Given the description of an element on the screen output the (x, y) to click on. 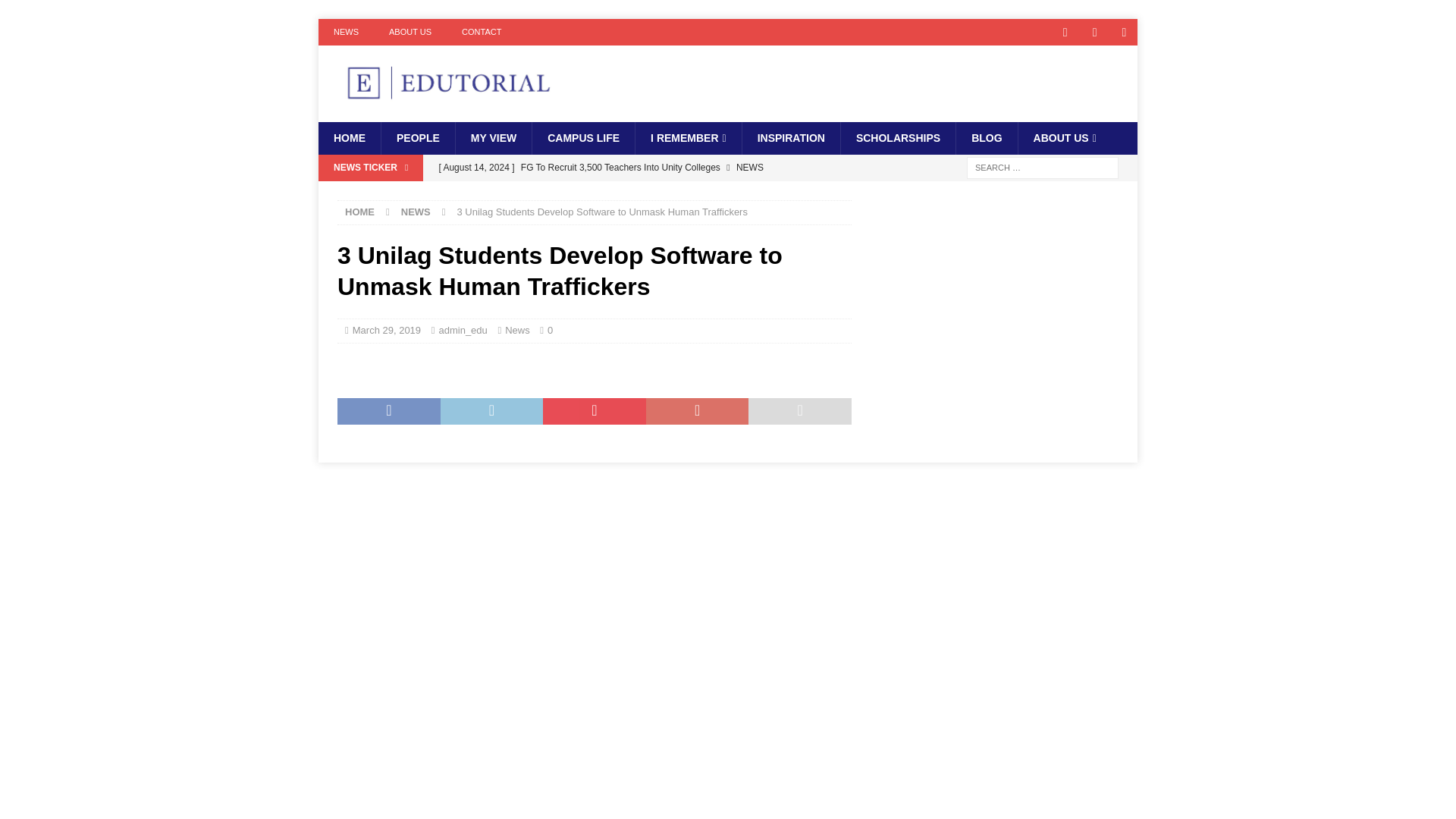
News (517, 329)
FG To Recruit 3,500 Teachers Into Unity Colleges (640, 167)
Search (56, 11)
CONTACT (481, 31)
March 29, 2019 (386, 329)
MY VIEW (492, 137)
NEWS (346, 31)
CAMPUS LIFE (582, 137)
I REMEMBER (687, 137)
